Given the description of an element on the screen output the (x, y) to click on. 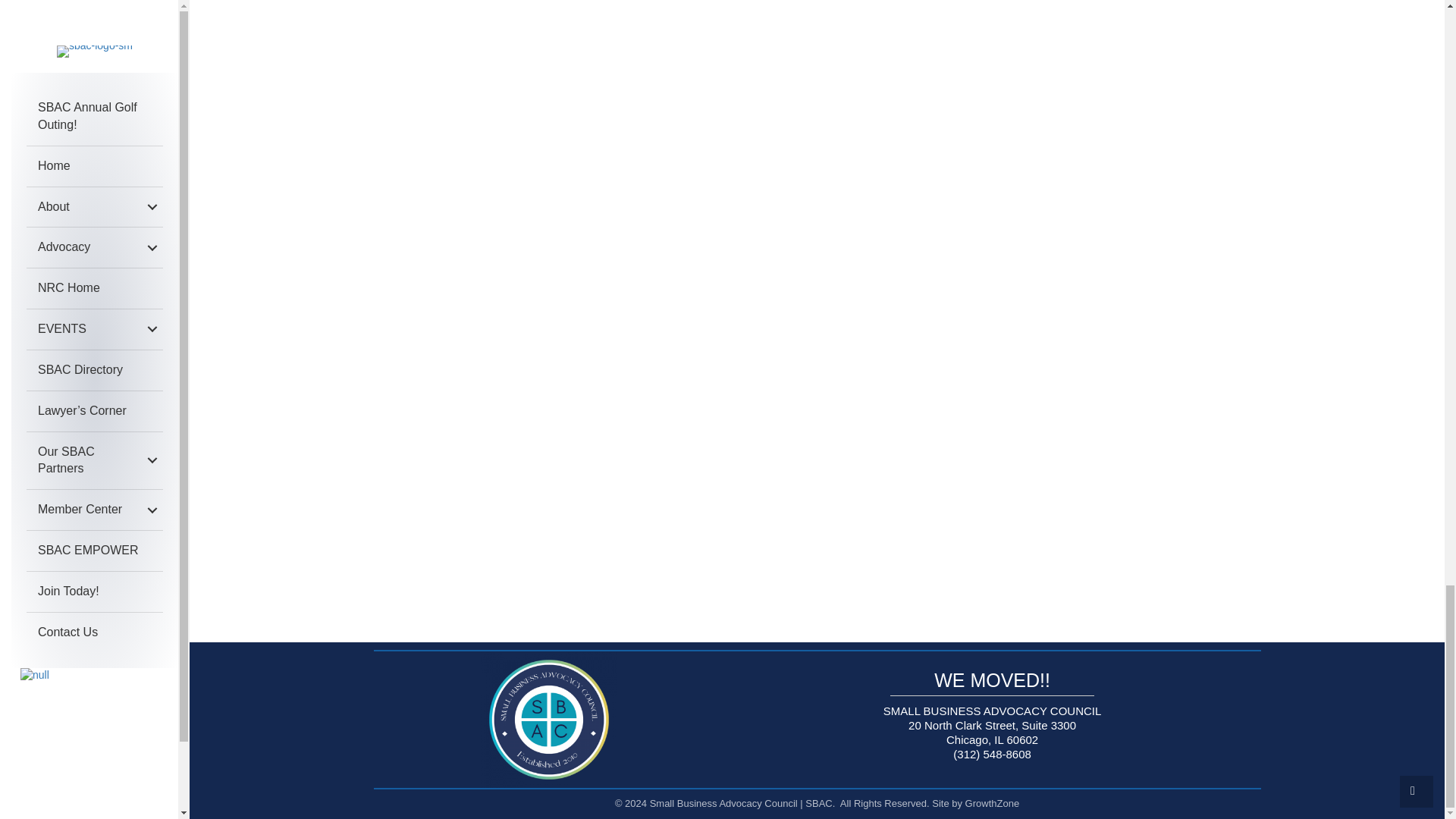
SBAC Logo new (548, 719)
